Given the description of an element on the screen output the (x, y) to click on. 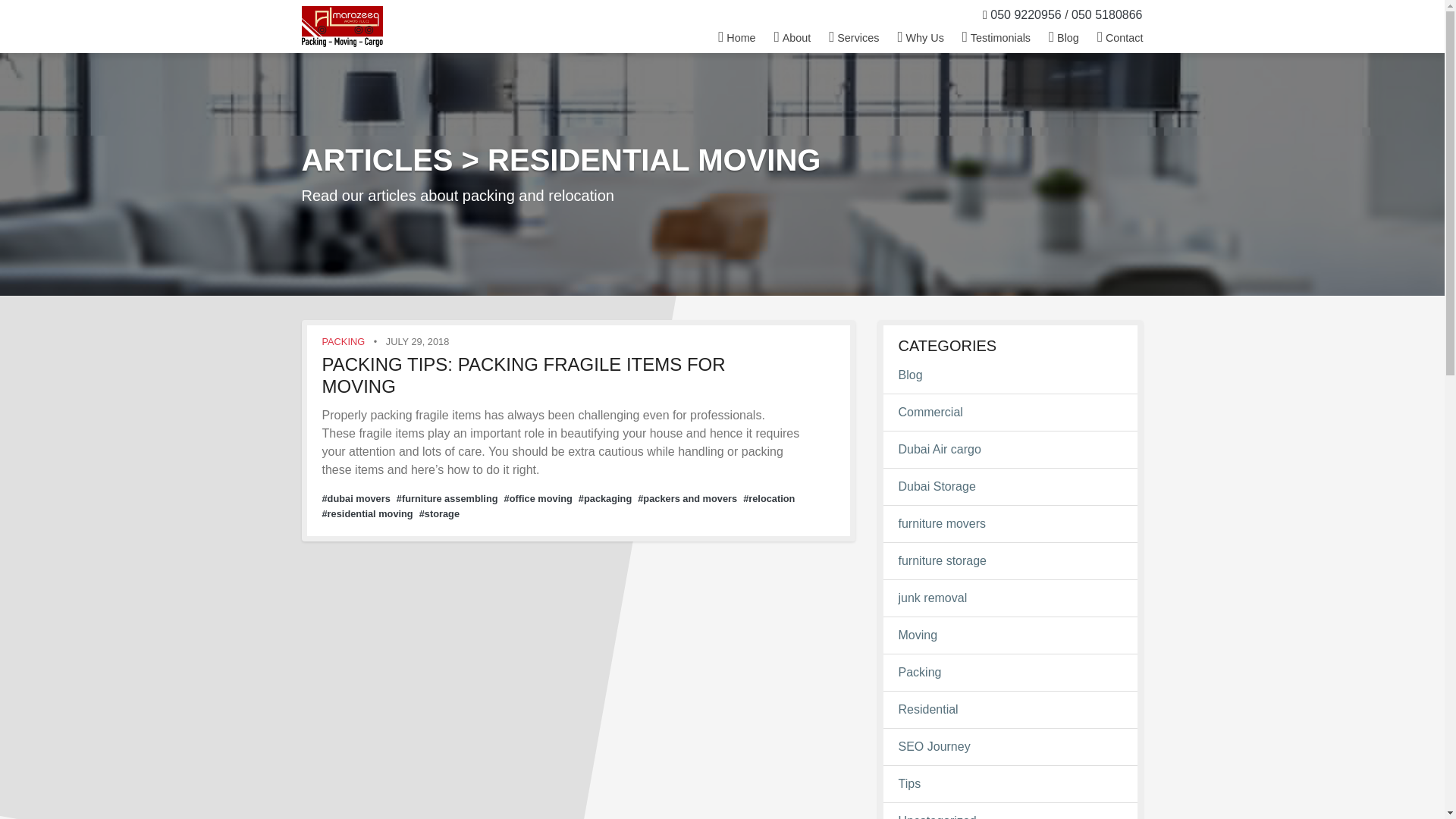
Testimonials (996, 34)
Services (853, 34)
About (793, 34)
About (793, 34)
Tips (1010, 783)
Testimonials (996, 34)
Residential (1010, 710)
Contact (1114, 34)
Dubai Air cargo (1010, 449)
Services (853, 34)
Commercial (1010, 412)
050 5180866 (1106, 14)
Blog (1063, 34)
Packing (1010, 672)
Blog (1010, 375)
